Given the description of an element on the screen output the (x, y) to click on. 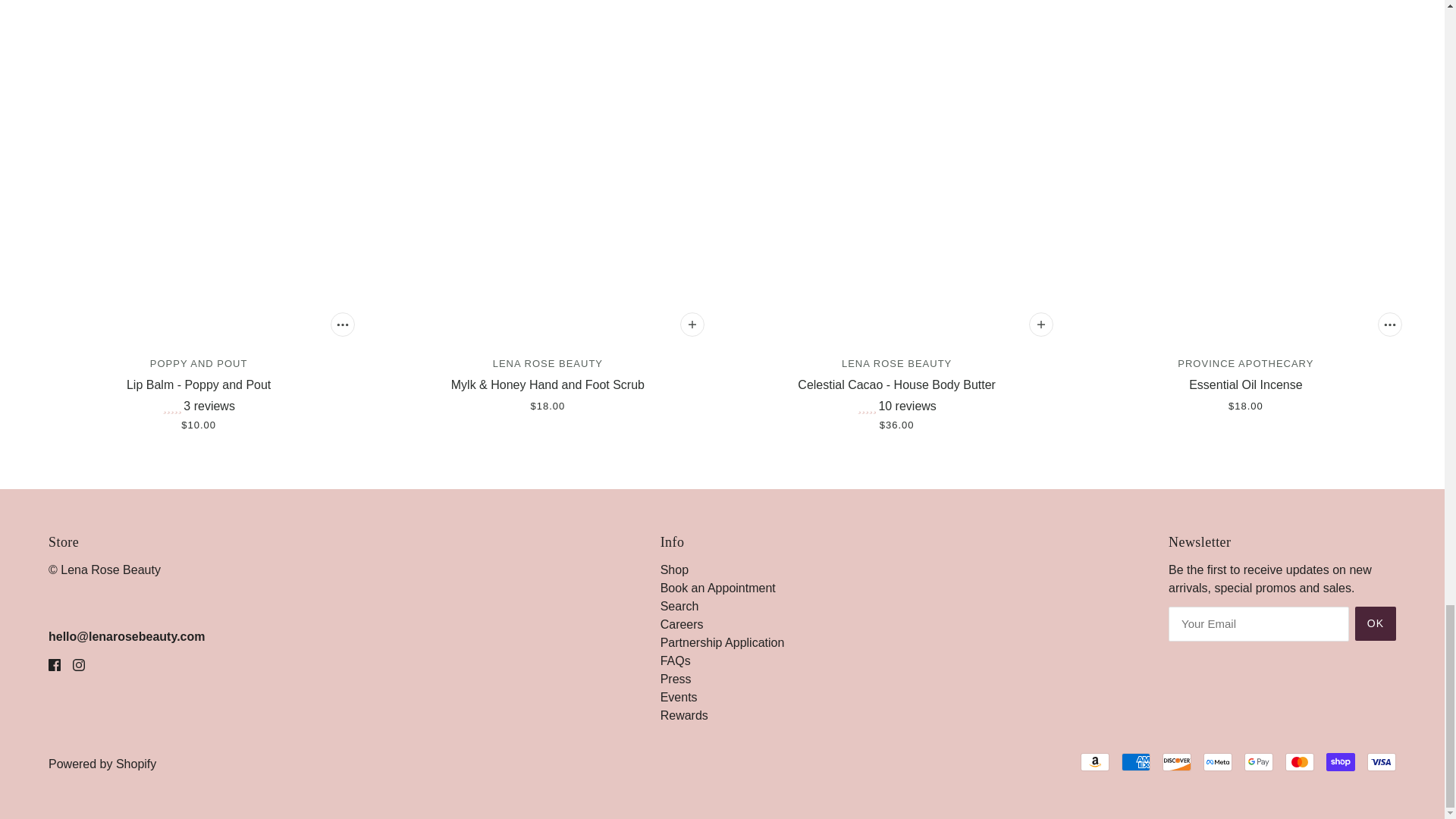
Search (679, 605)
Discover (1176, 761)
Book an Appointment (718, 587)
Press (676, 678)
Shop (674, 569)
American Express (1135, 761)
FAQs (675, 660)
Amazon (1094, 761)
Rewards (684, 715)
Shop Pay (1340, 761)
